Given the description of an element on the screen output the (x, y) to click on. 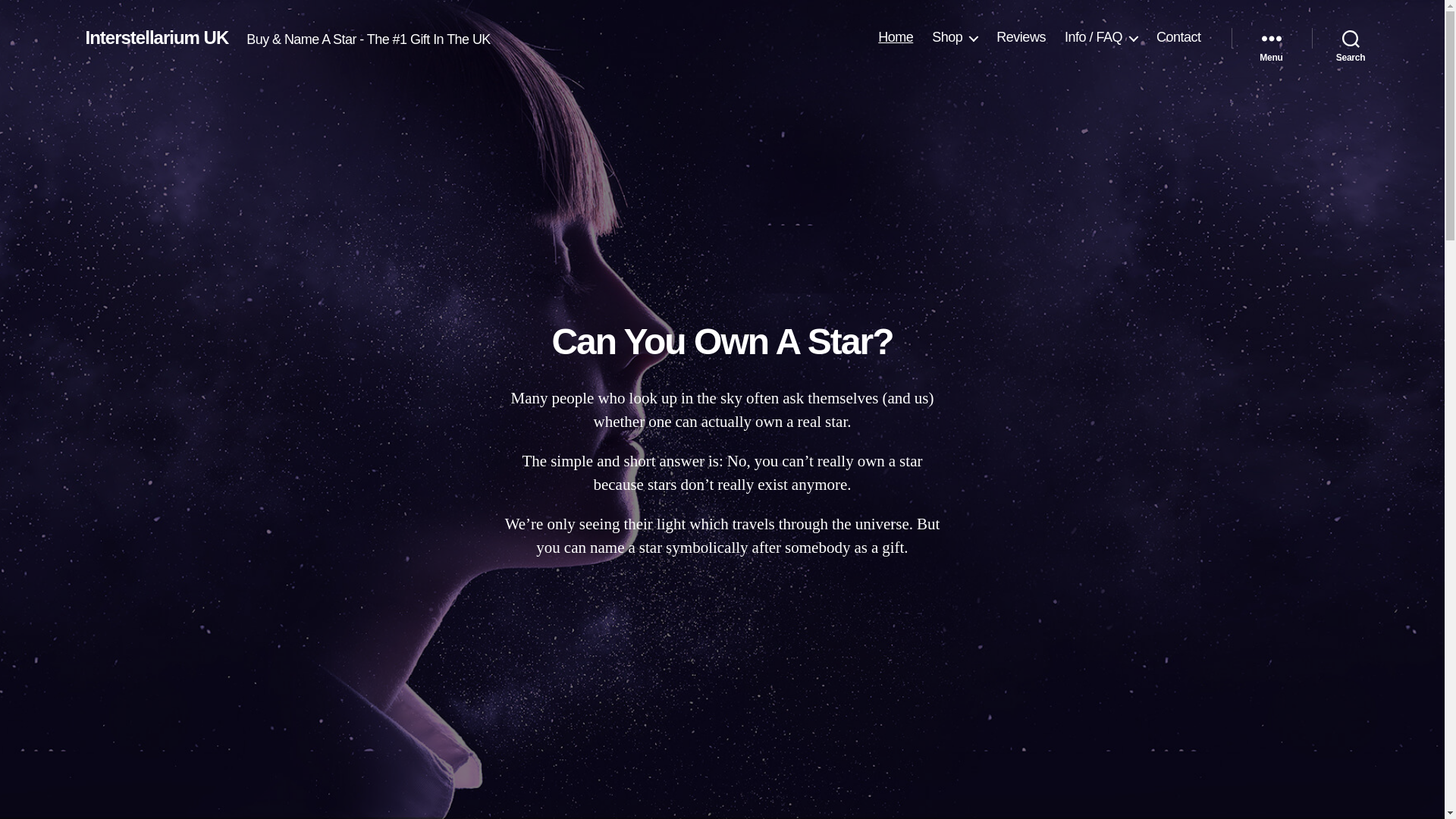
Search (1350, 37)
Contact (1178, 37)
Home (894, 37)
Reviews (1020, 37)
Interstellarium UK (156, 37)
Menu (1271, 37)
Shop (953, 37)
